Given the description of an element on the screen output the (x, y) to click on. 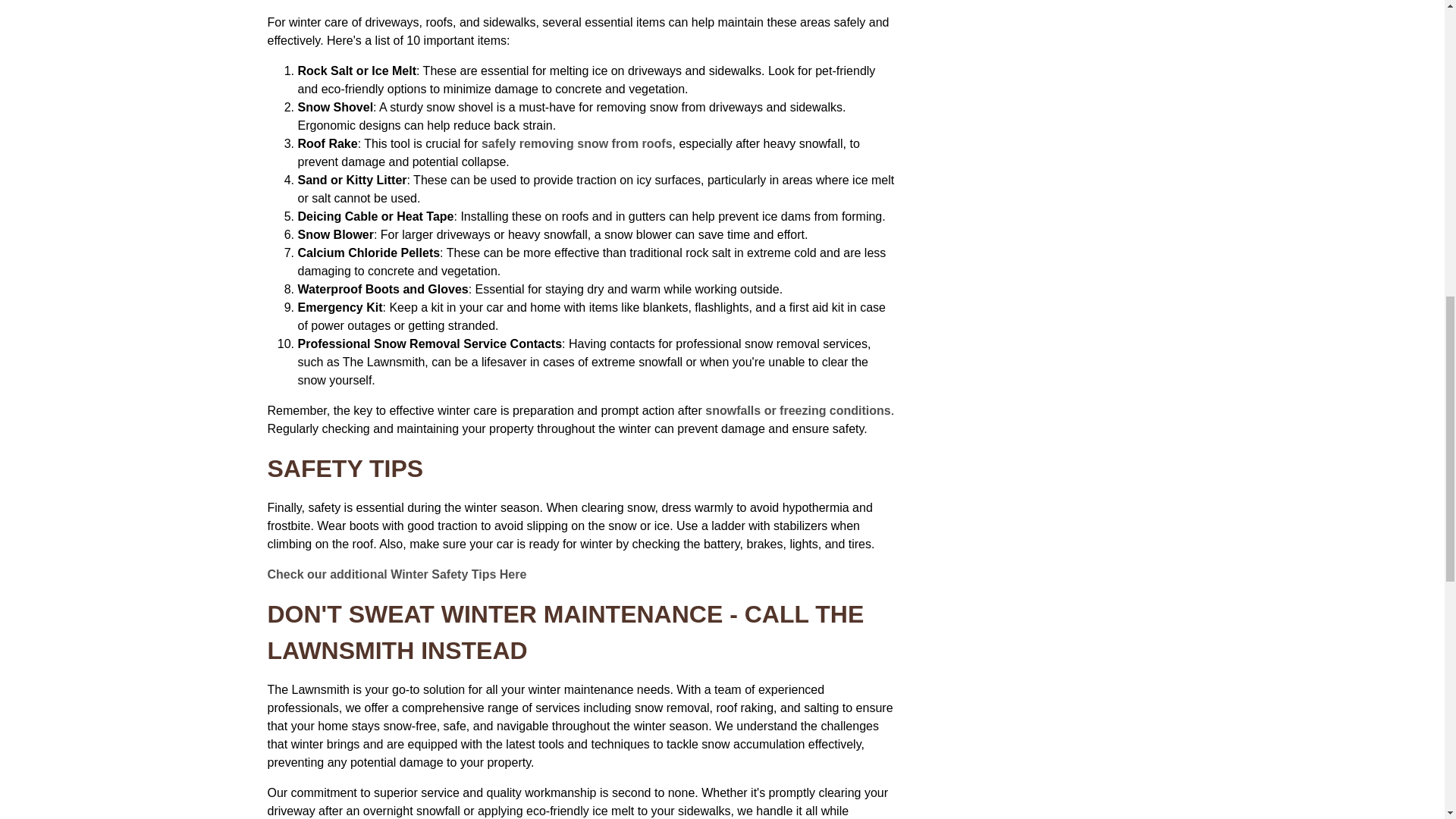
 safely removing snow from roofs (574, 143)
 snowfalls or freezing conditions (796, 410)
Check our additional Winter Safety Tips Here (395, 574)
